Given the description of an element on the screen output the (x, y) to click on. 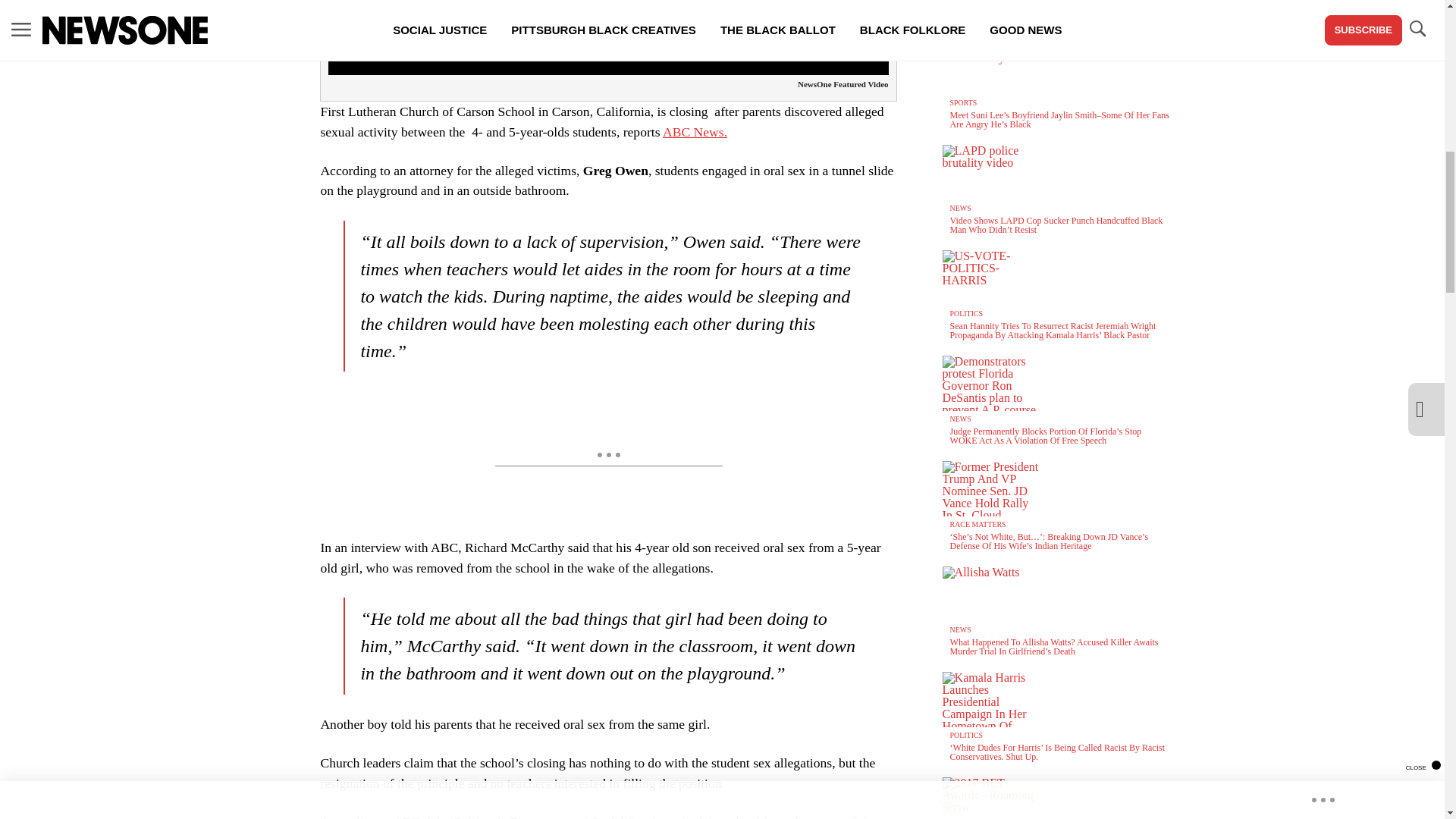
ABC News. (694, 131)
